Given the description of an element on the screen output the (x, y) to click on. 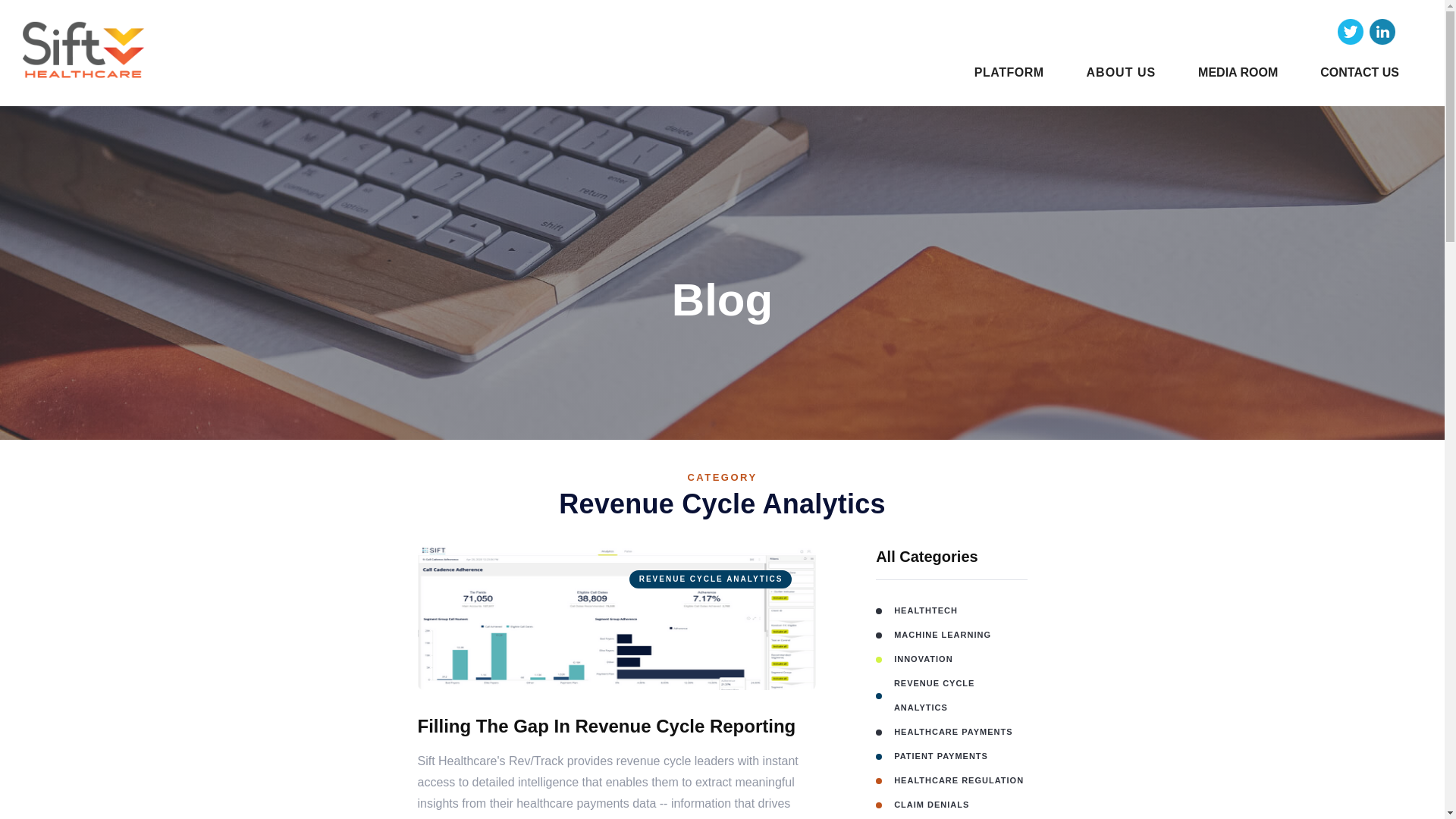
HEALTHCARE REGULATION (951, 780)
MEDIA ROOM (1238, 72)
REVENUE CYCLE ANALYTICS (615, 618)
PLATFORM (1008, 72)
HEALTHTECH (951, 610)
MACHINE LEARNING (951, 634)
PATIENT PAYMENTS (951, 755)
HEALTHCARE PAYMENTS (951, 731)
ABOUT US (1121, 72)
CLAIM DENIALS (951, 804)
INNOVATION (951, 658)
REVENUE CYCLE ANALYTICS (951, 694)
CONTACT US (1359, 72)
HEALTHCARE (951, 817)
